Given the description of an element on the screen output the (x, y) to click on. 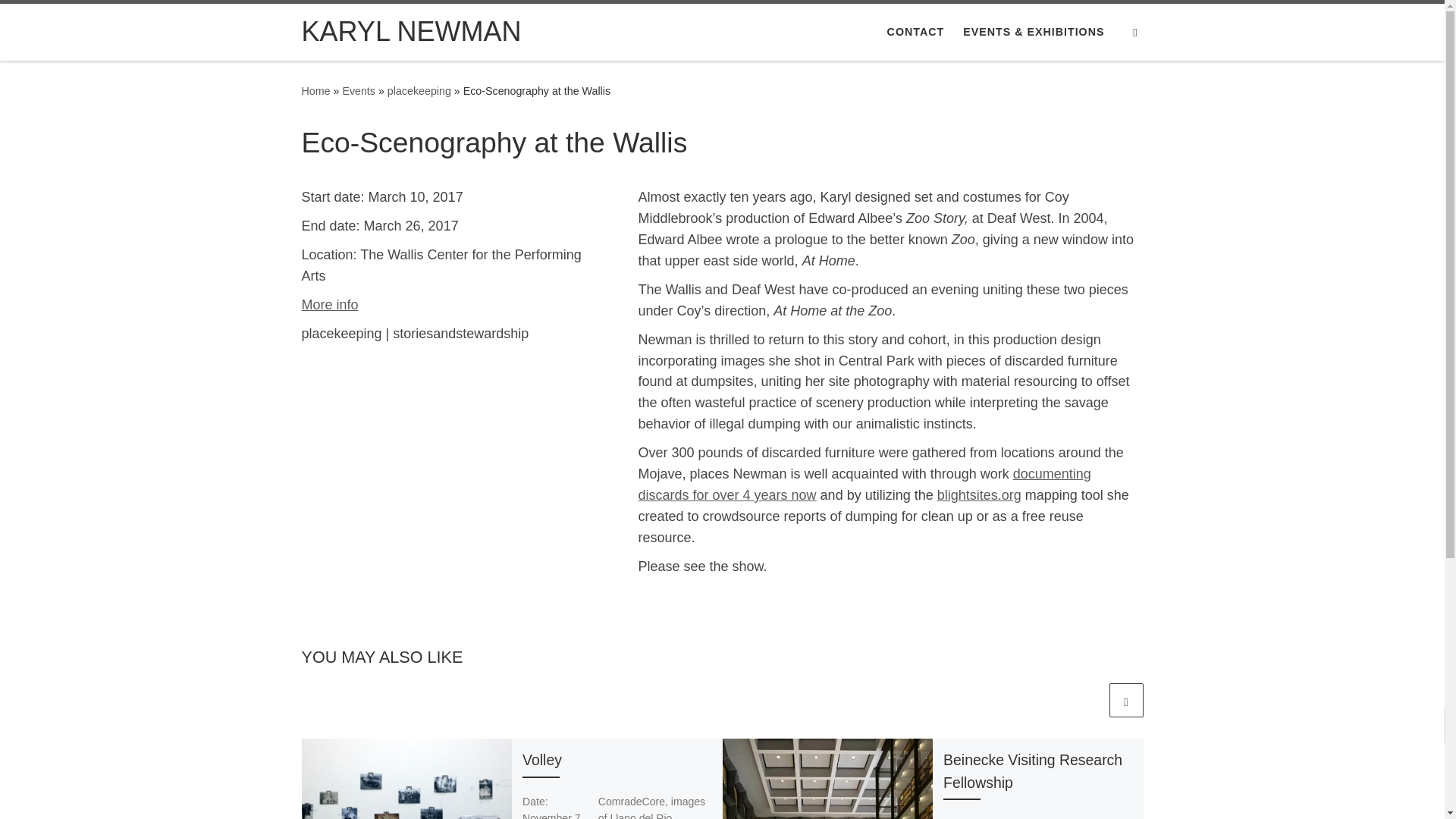
blightsites.org (979, 494)
KARYL NEWMAN (315, 91)
Skip to content (60, 20)
placekeeping (419, 91)
CONTACT (915, 31)
documenting discards for over 4 years now (864, 484)
More info (329, 304)
Volley (542, 759)
Home (315, 91)
Events (358, 91)
Events (358, 91)
KARYL NEWMAN (411, 31)
placekeeping (419, 91)
Previous related articles (1088, 700)
Beinecke Visiting Research Fellowship (1032, 770)
